Given the description of an element on the screen output the (x, y) to click on. 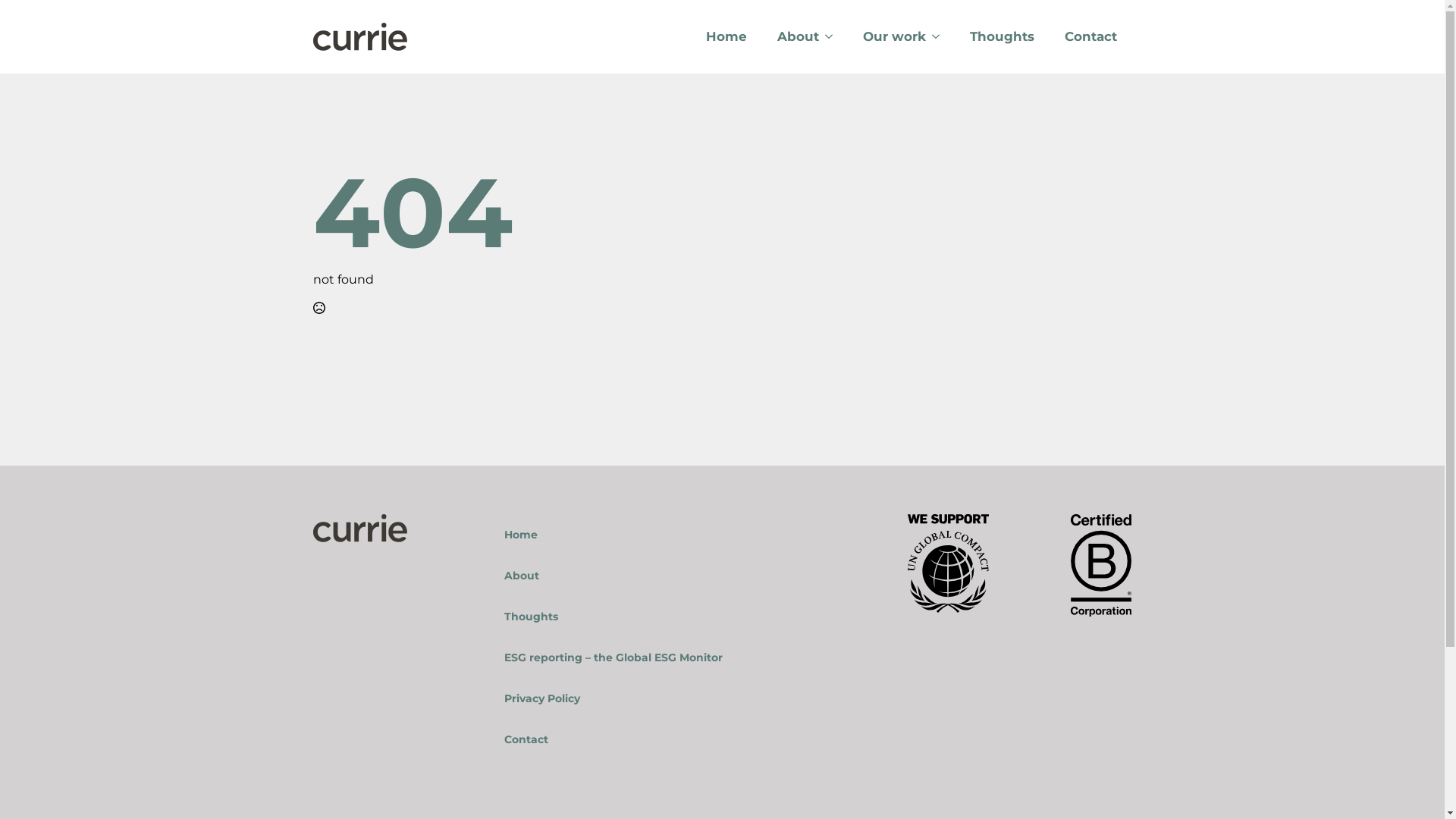
Our work Element type: text (886, 36)
Contact Element type: text (1090, 36)
Thoughts Element type: text (1000, 36)
Home Element type: text (725, 36)
About Element type: text (667, 575)
Contact Element type: text (667, 738)
Privacy Policy Element type: text (667, 697)
Thoughts Element type: text (667, 616)
Home Element type: text (667, 534)
About Element type: text (789, 36)
